Given the description of an element on the screen output the (x, y) to click on. 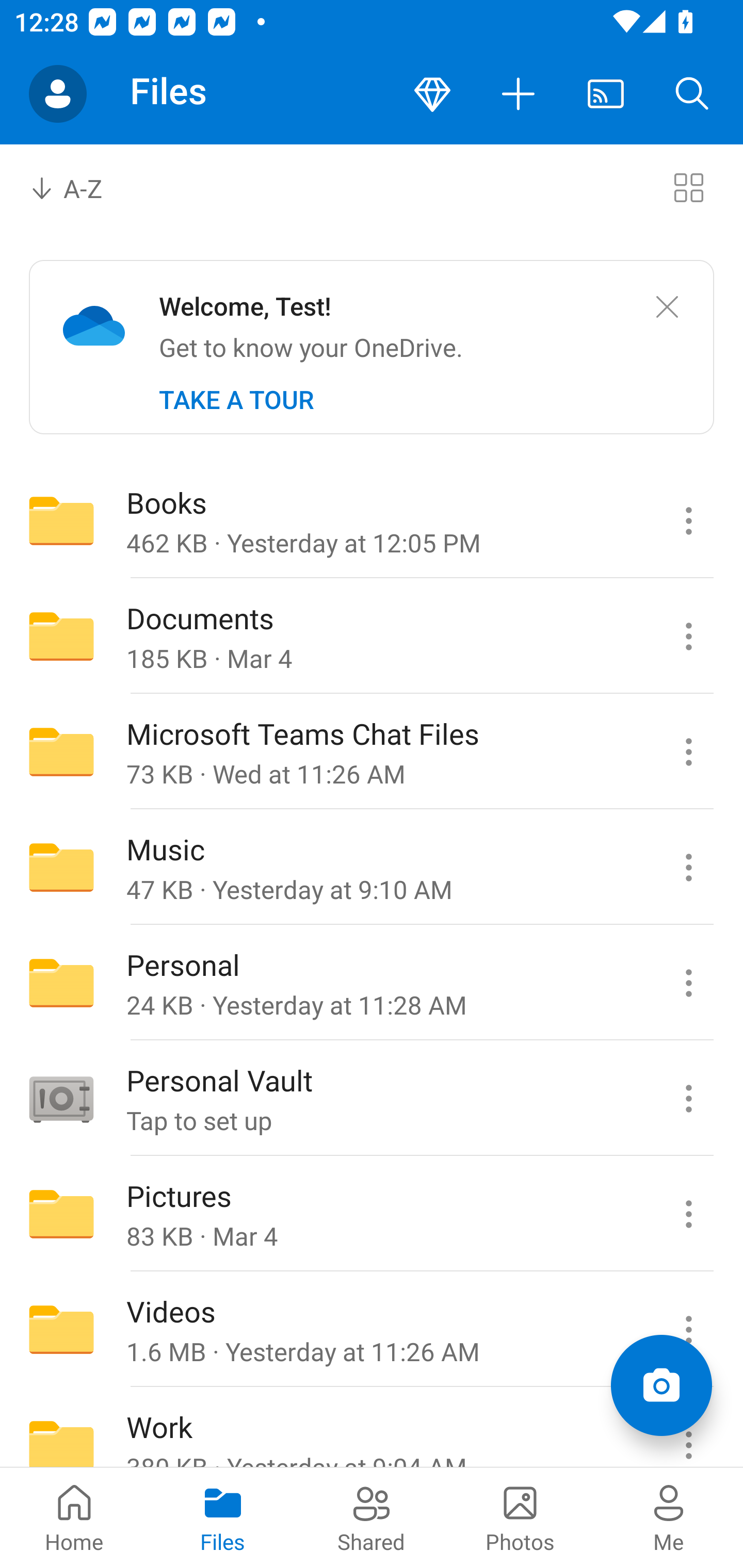
Account switcher (57, 93)
Cast. Disconnected (605, 93)
Premium button (432, 93)
More actions button (518, 93)
Search button (692, 93)
A-Z Sort by combo box, sort by name, A to Z (80, 187)
Switch to tiles view (688, 187)
Close (667, 307)
TAKE A TOUR (236, 399)
Books commands (688, 520)
Folder Documents 185 KB · Mar 4 Documents commands (371, 636)
Documents commands (688, 636)
Microsoft Teams Chat Files commands (688, 751)
Music commands (688, 867)
Personal commands (688, 983)
Personal Vault commands (688, 1099)
Folder Pictures 83 KB · Mar 4 Pictures commands (371, 1214)
Pictures commands (688, 1214)
Videos commands (688, 1329)
Add items Scan (660, 1385)
Work commands (688, 1427)
Home pivot Home (74, 1517)
Shared pivot Shared (371, 1517)
Photos pivot Photos (519, 1517)
Me pivot Me (668, 1517)
